Given the description of an element on the screen output the (x, y) to click on. 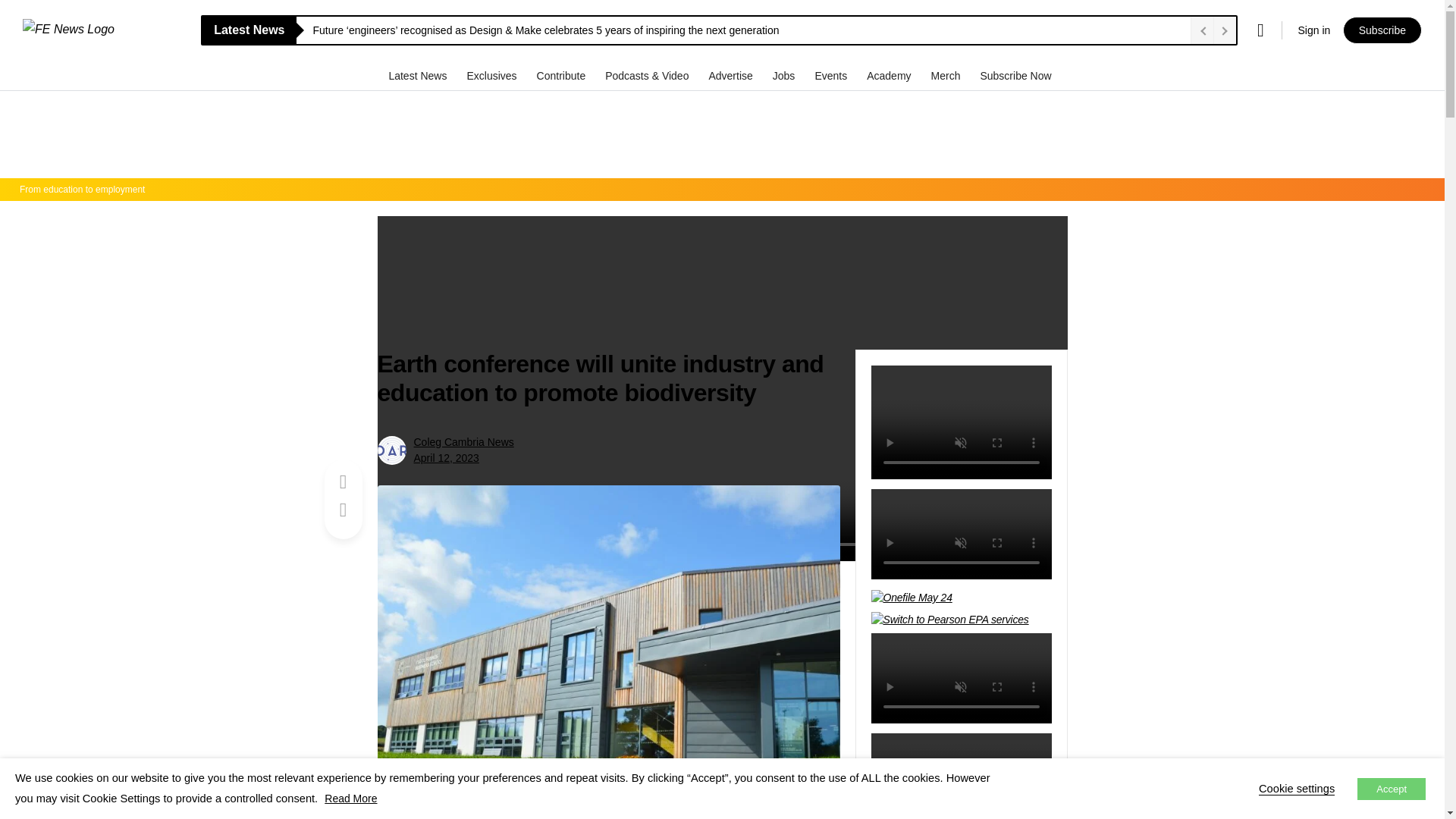
Latest News (419, 75)
Exclusives (493, 75)
Subscribe (1382, 30)
Sign in (1313, 30)
